Given the description of an element on the screen output the (x, y) to click on. 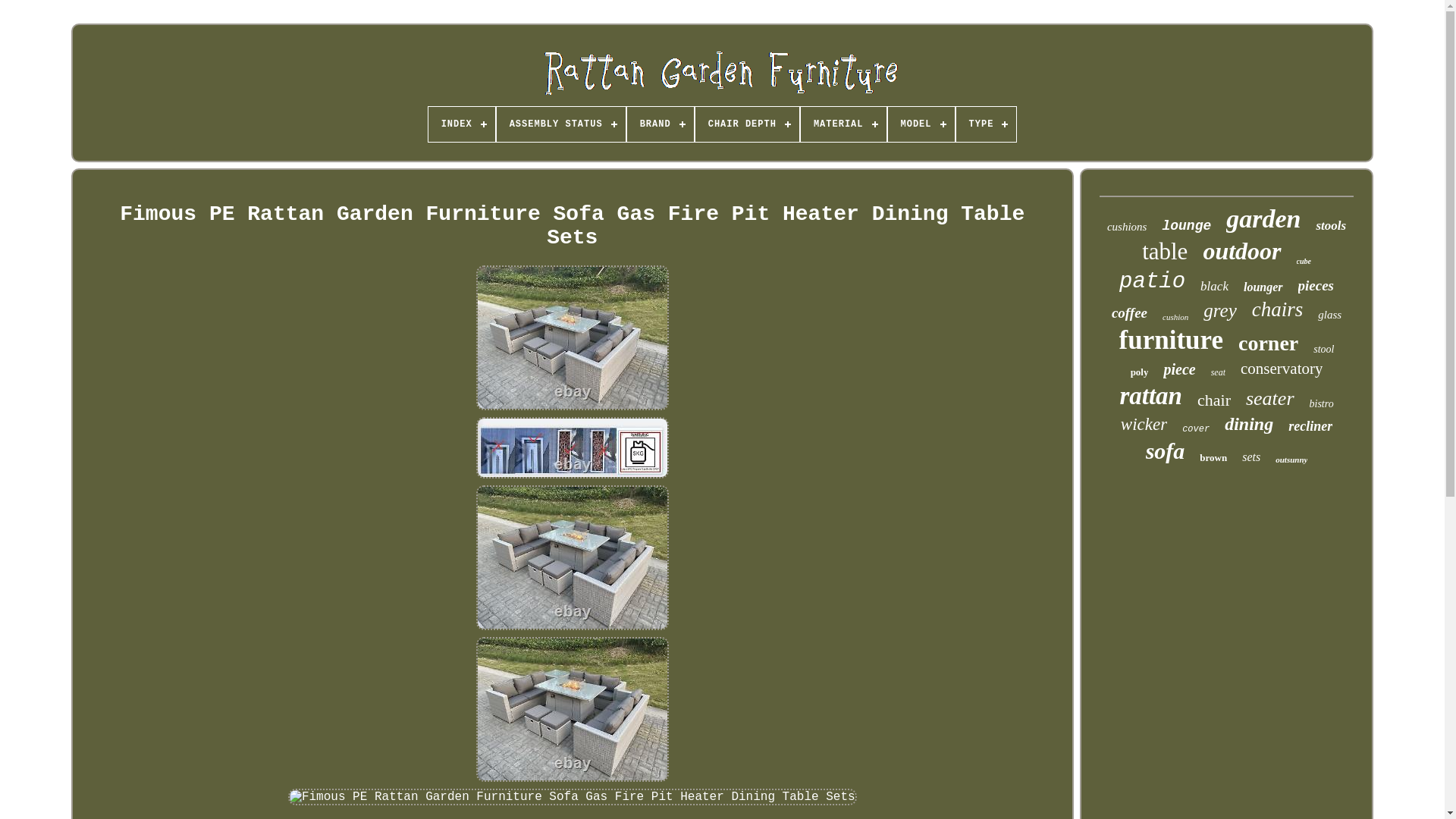
INDEX (461, 124)
ASSEMBLY STATUS (561, 124)
CHAIR DEPTH (747, 124)
BRAND (660, 124)
